Given the description of an element on the screen output the (x, y) to click on. 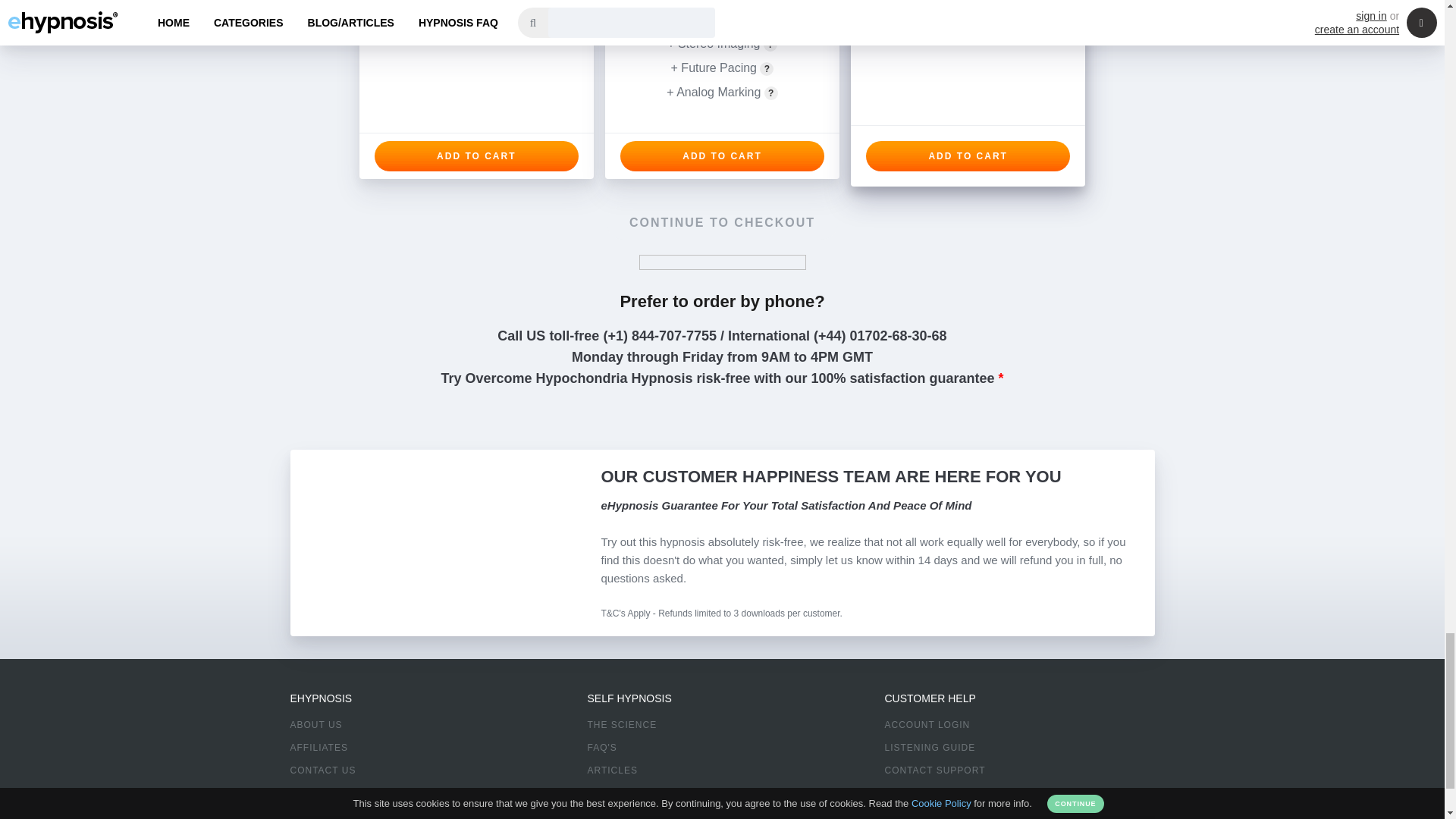
continue to checkout (722, 222)
AFFILIATES (318, 747)
ACCOUNT LOGIN (926, 724)
FAQ'S (600, 747)
ADD TO CART (968, 155)
LISTENING GUIDE (929, 747)
CONTACT US (322, 769)
continue to checkout (722, 222)
ABOUT US (315, 724)
THE SCIENCE (621, 724)
ARTICLES (611, 769)
ADD TO CART (722, 155)
CONTACT SUPPORT (934, 769)
ADD TO CART (476, 155)
